Given the description of an element on the screen output the (x, y) to click on. 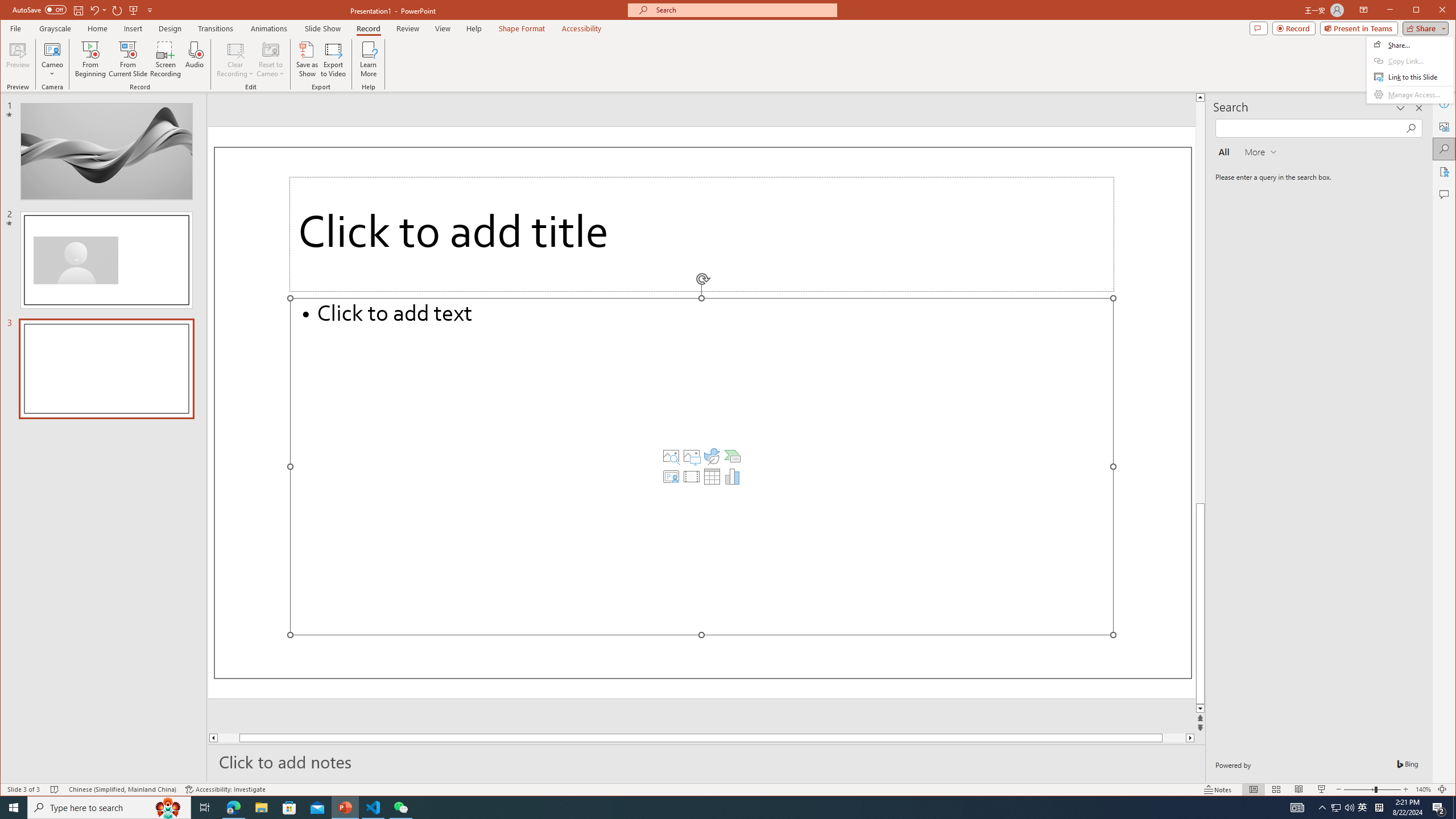
Insert Cameo (670, 476)
Zoom 140% (1422, 789)
